Given the description of an element on the screen output the (x, y) to click on. 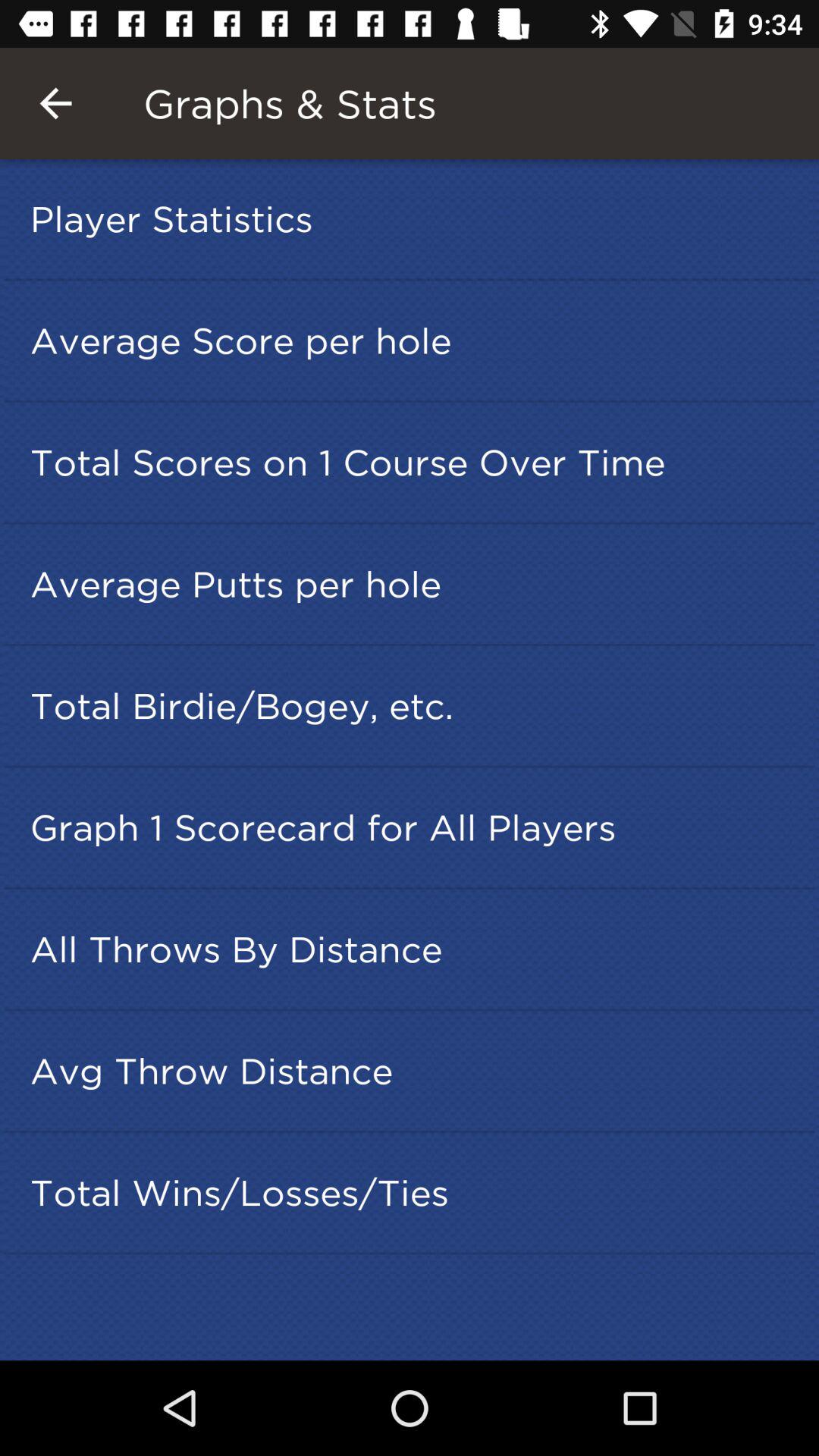
tap the item next to the graphs & stats (55, 103)
